Given the description of an element on the screen output the (x, y) to click on. 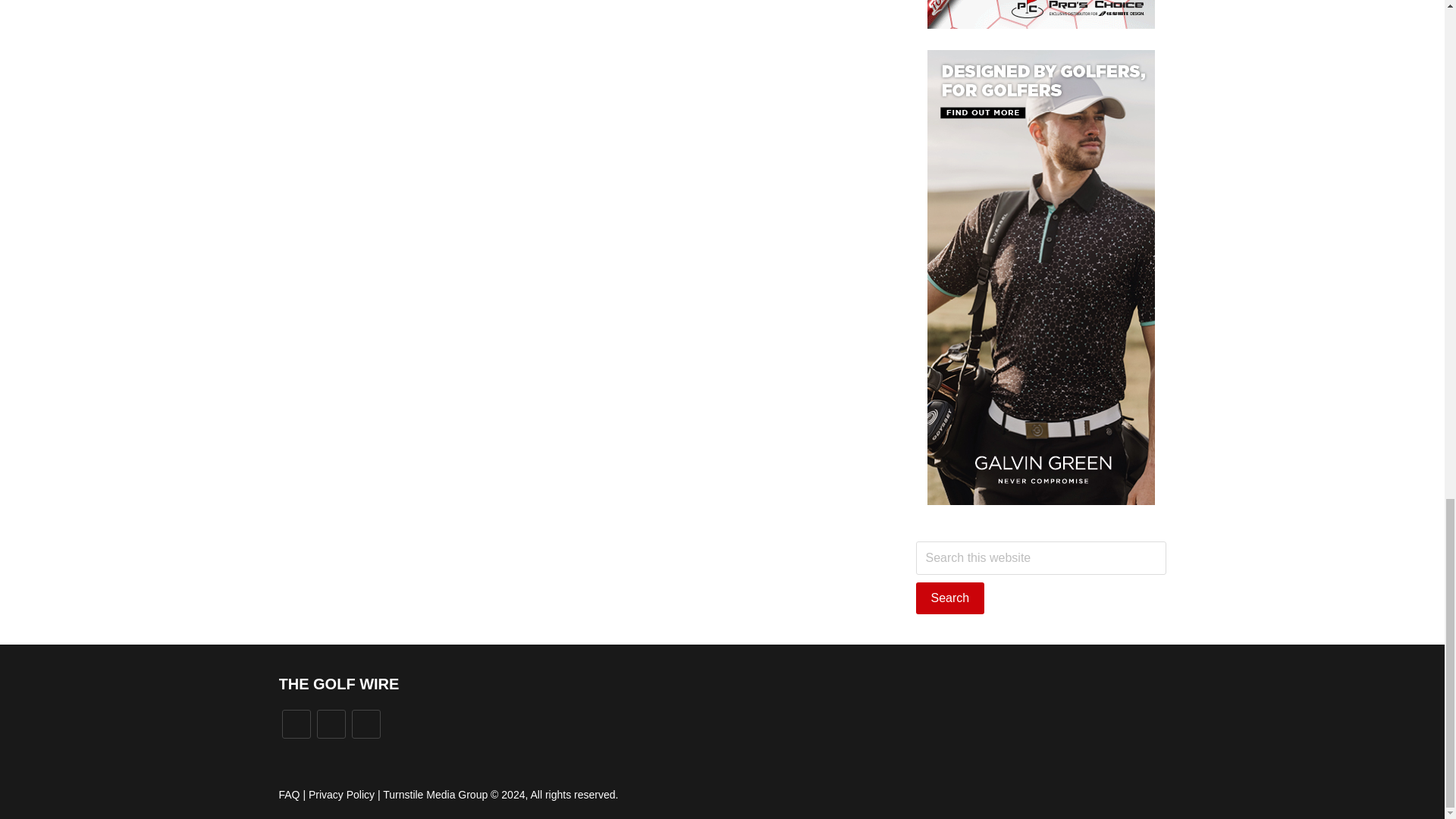
Search (950, 598)
Search (950, 598)
FAQ (289, 794)
Privacy Policy (341, 794)
Search (950, 598)
